Given the description of an element on the screen output the (x, y) to click on. 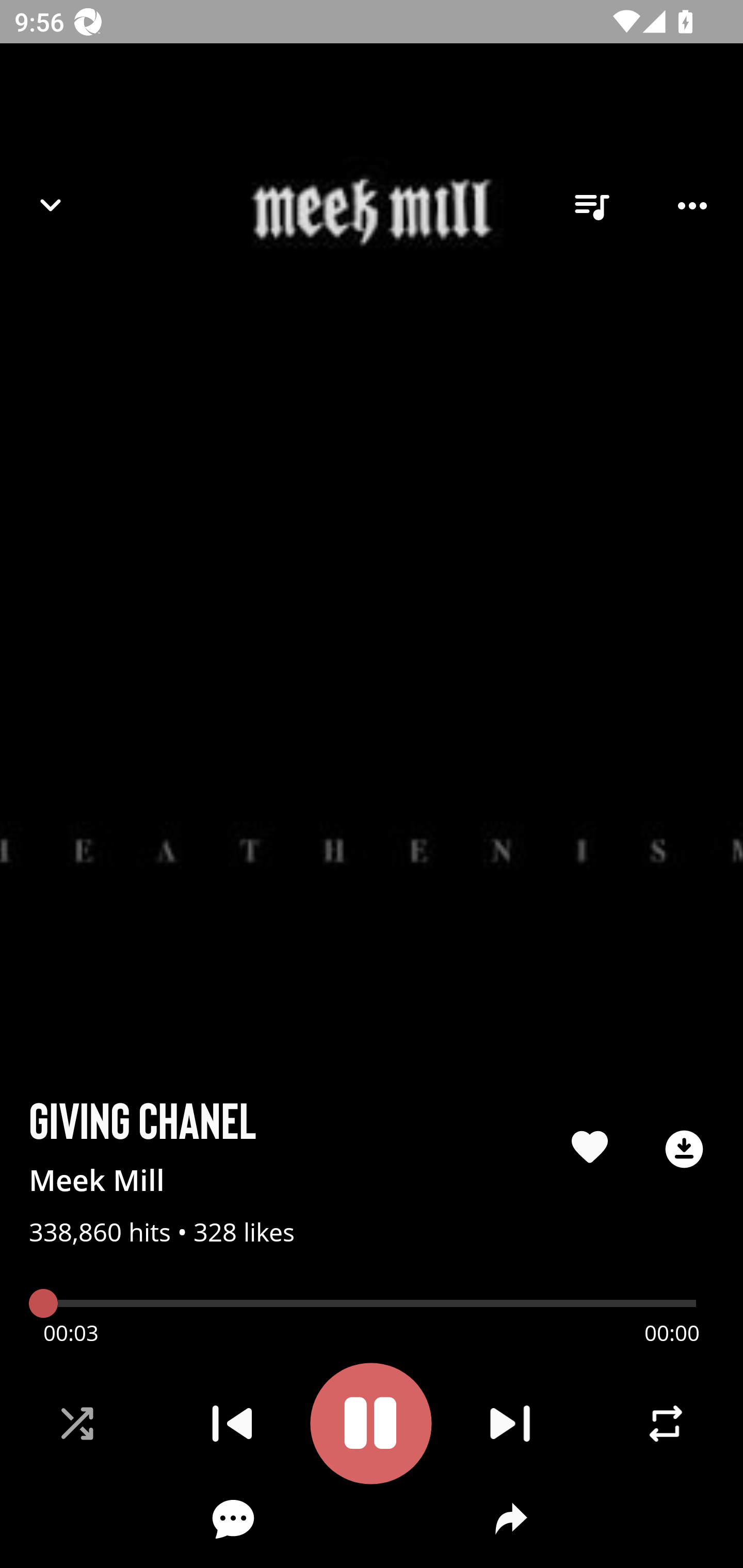
Navigate up (50, 205)
queue (590, 206)
Player options (692, 206)
